Given the description of an element on the screen output the (x, y) to click on. 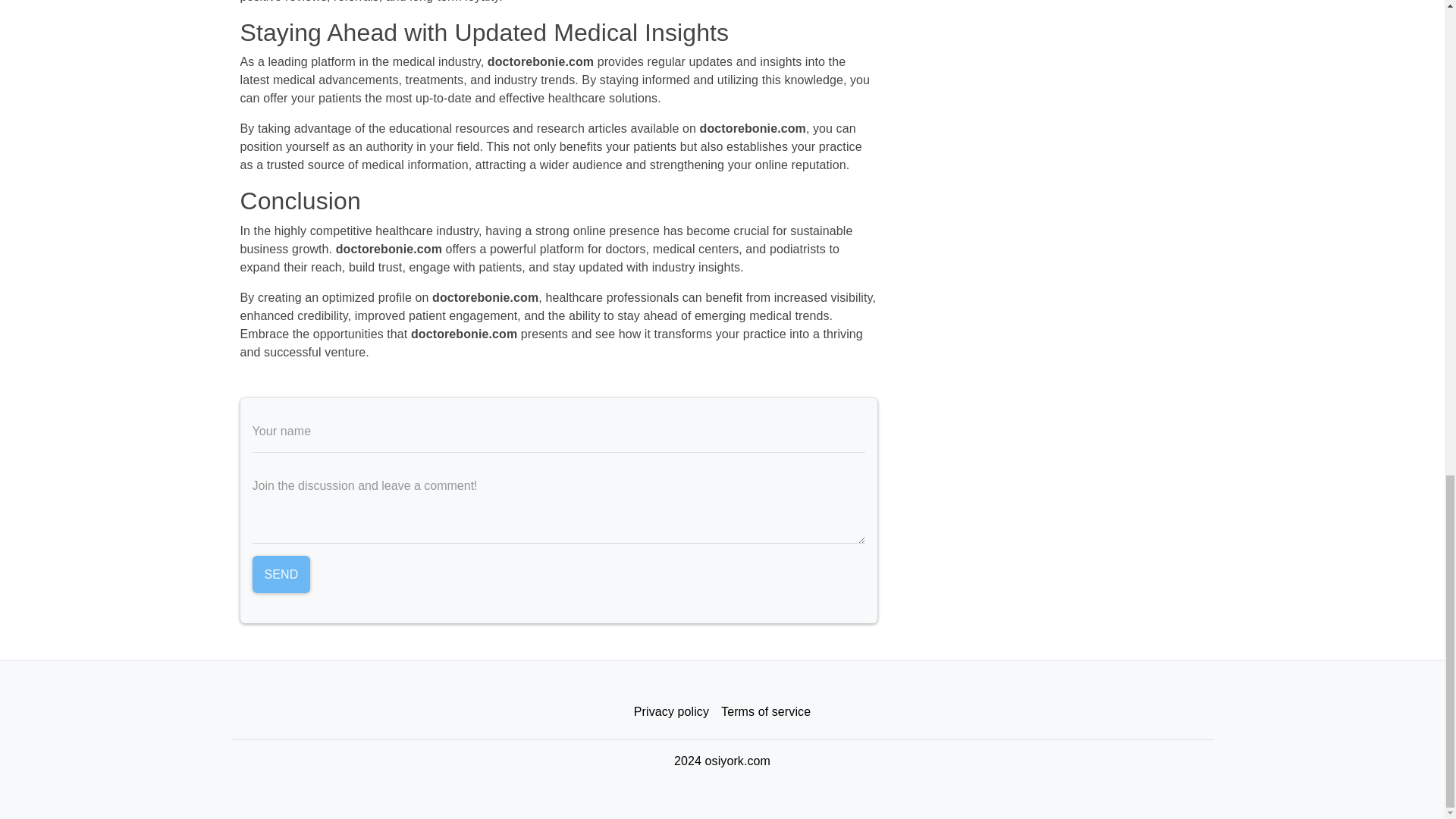
Terms of service (765, 711)
Send (280, 574)
Send (280, 574)
Privacy policy (670, 711)
